Given the description of an element on the screen output the (x, y) to click on. 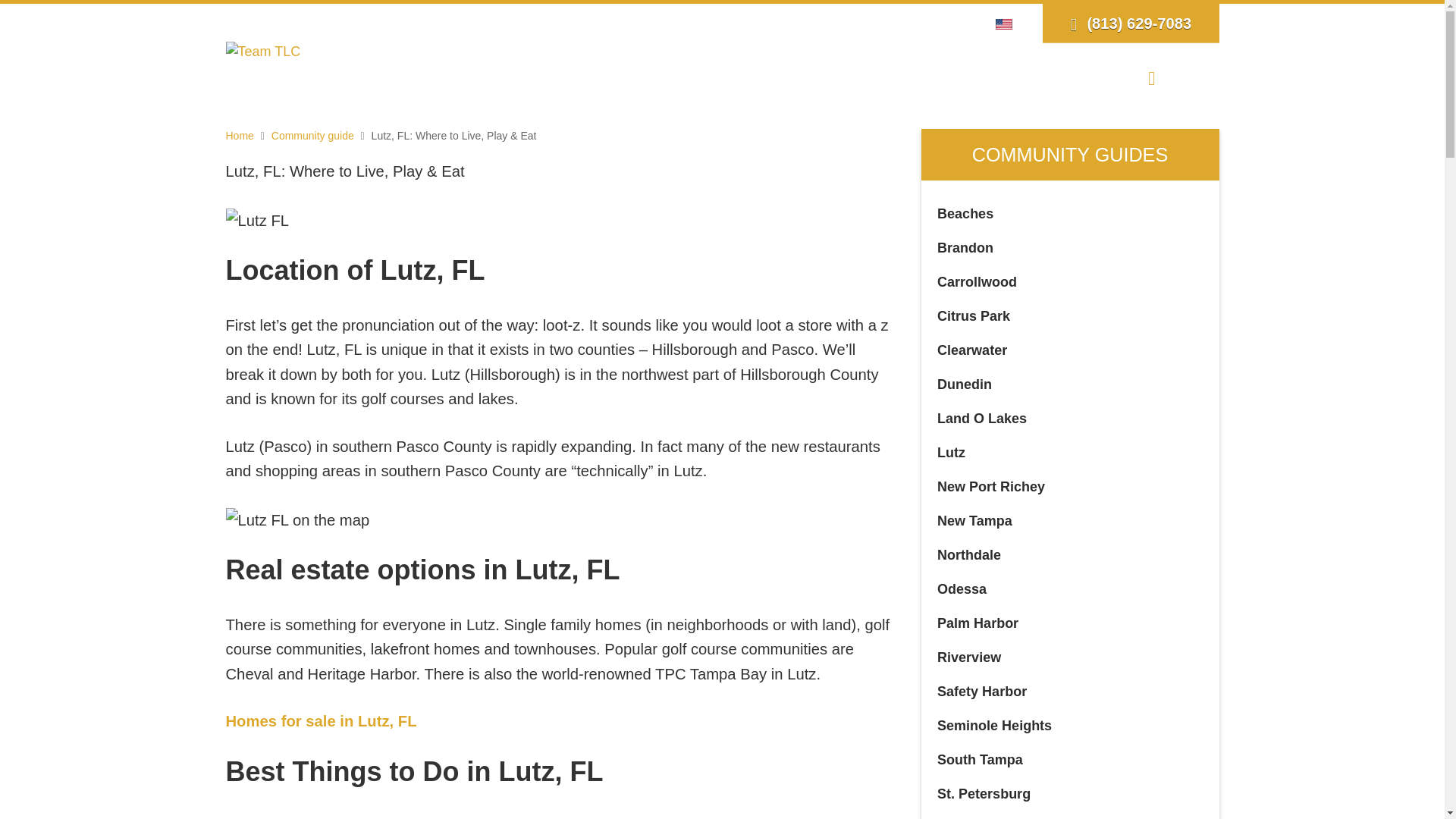
ABOUT (555, 77)
Select Language (1008, 23)
SEARCH (636, 77)
Login (872, 23)
Home Page (263, 50)
BUYERS (721, 77)
Register (920, 23)
